Given the description of an element on the screen output the (x, y) to click on. 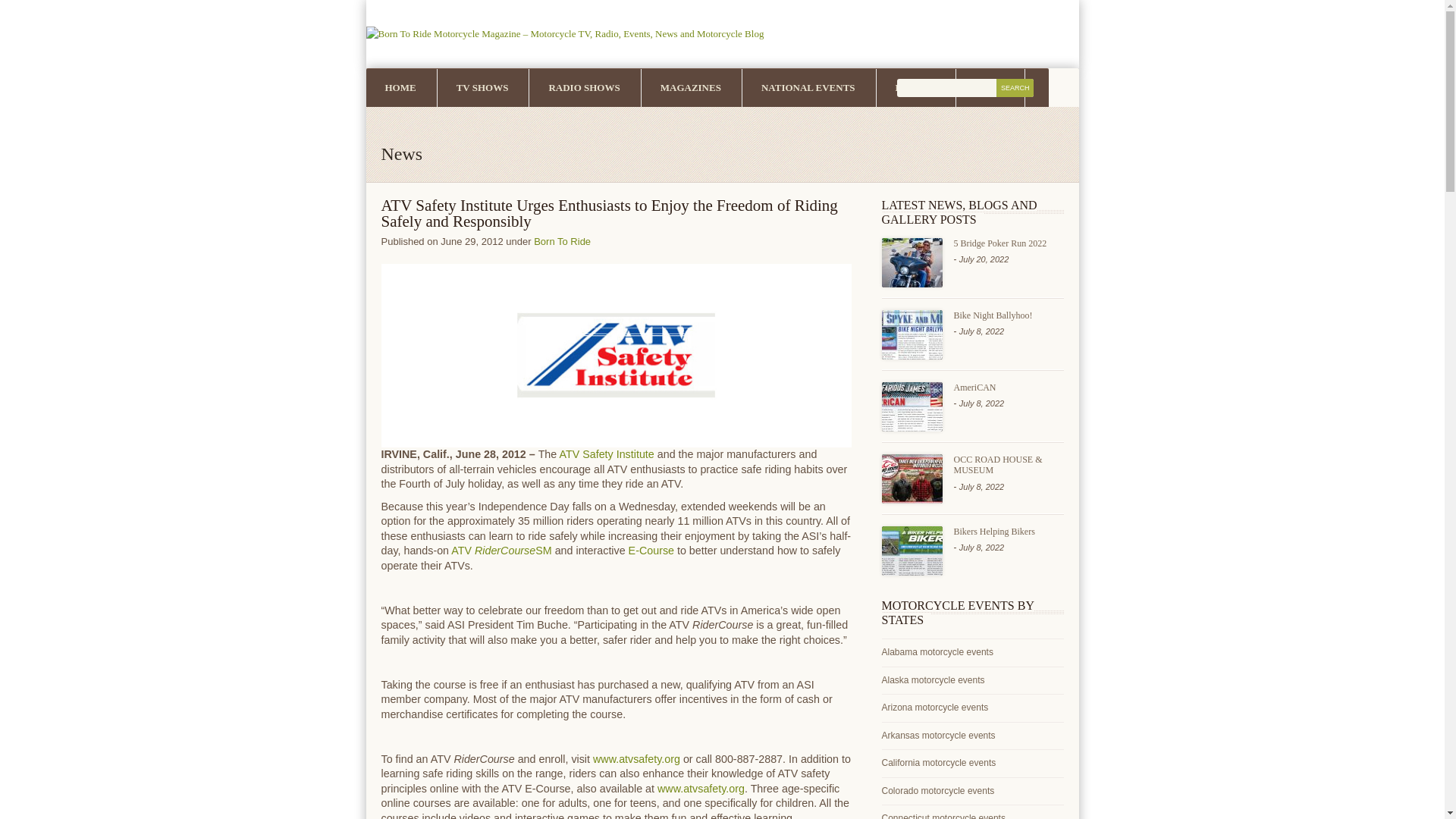
Search (1014, 87)
HOME (399, 86)
Motorcycle Babes, Events photos and videos (404, 125)
PHOTOS (404, 125)
Born To Ride Motorcycle TV show (482, 86)
BUSINESSES (495, 125)
NEWS (989, 86)
Born To Ride (562, 240)
National, Florida and Georgia Motorcycle events (914, 86)
Motorcycle Magazine Issues (690, 86)
